Given the description of an element on the screen output the (x, y) to click on. 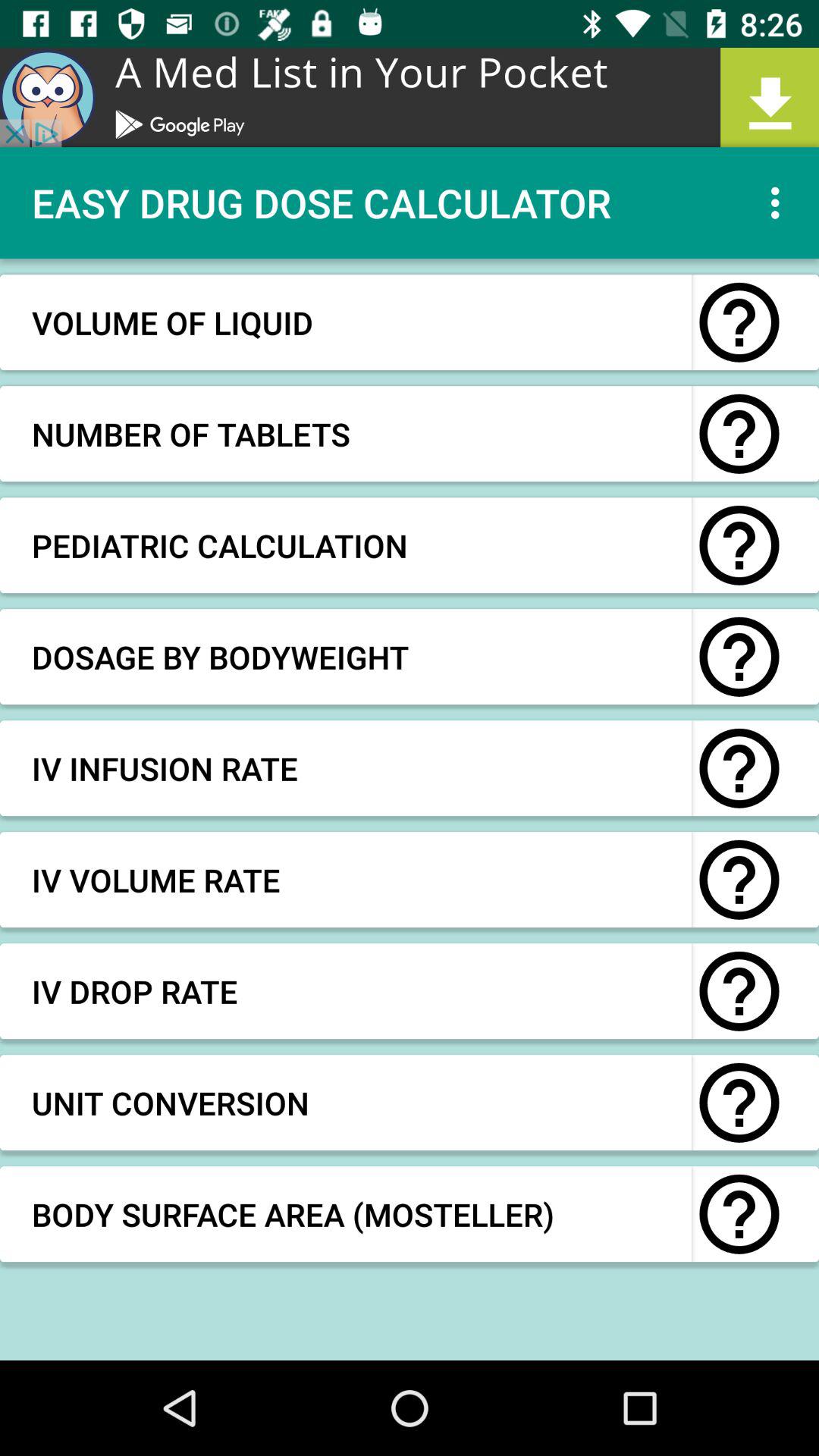
symbol (739, 991)
